Given the description of an element on the screen output the (x, y) to click on. 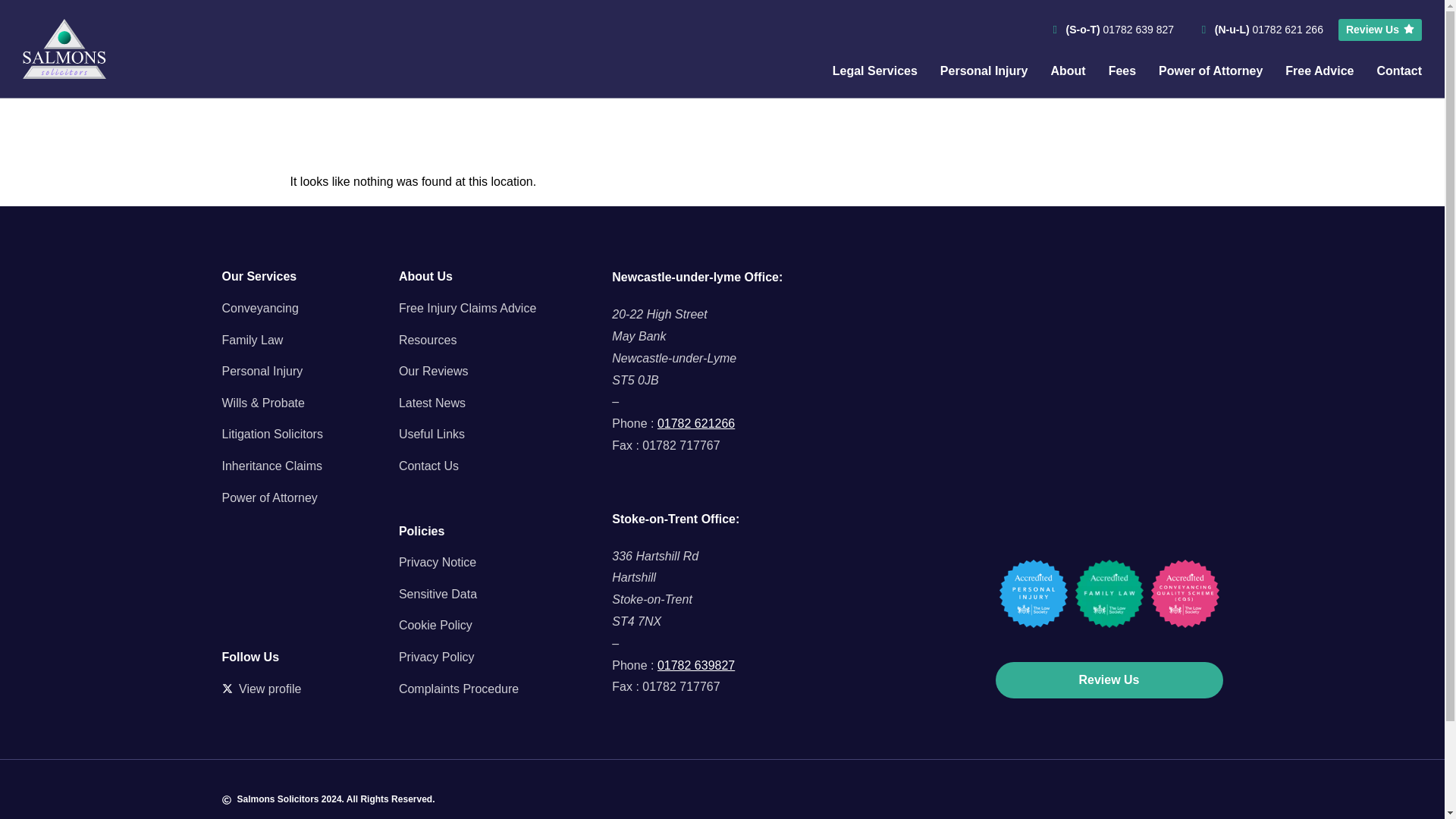
Legal Services (874, 70)
Free Advice (1319, 70)
Personal Injury (983, 70)
Fees (1121, 70)
Power of Attorney (1210, 70)
01782 639827 (696, 665)
01782 621266 (696, 422)
Contact (1398, 70)
Review Us (1380, 29)
About (1066, 70)
